Given the description of an element on the screen output the (x, y) to click on. 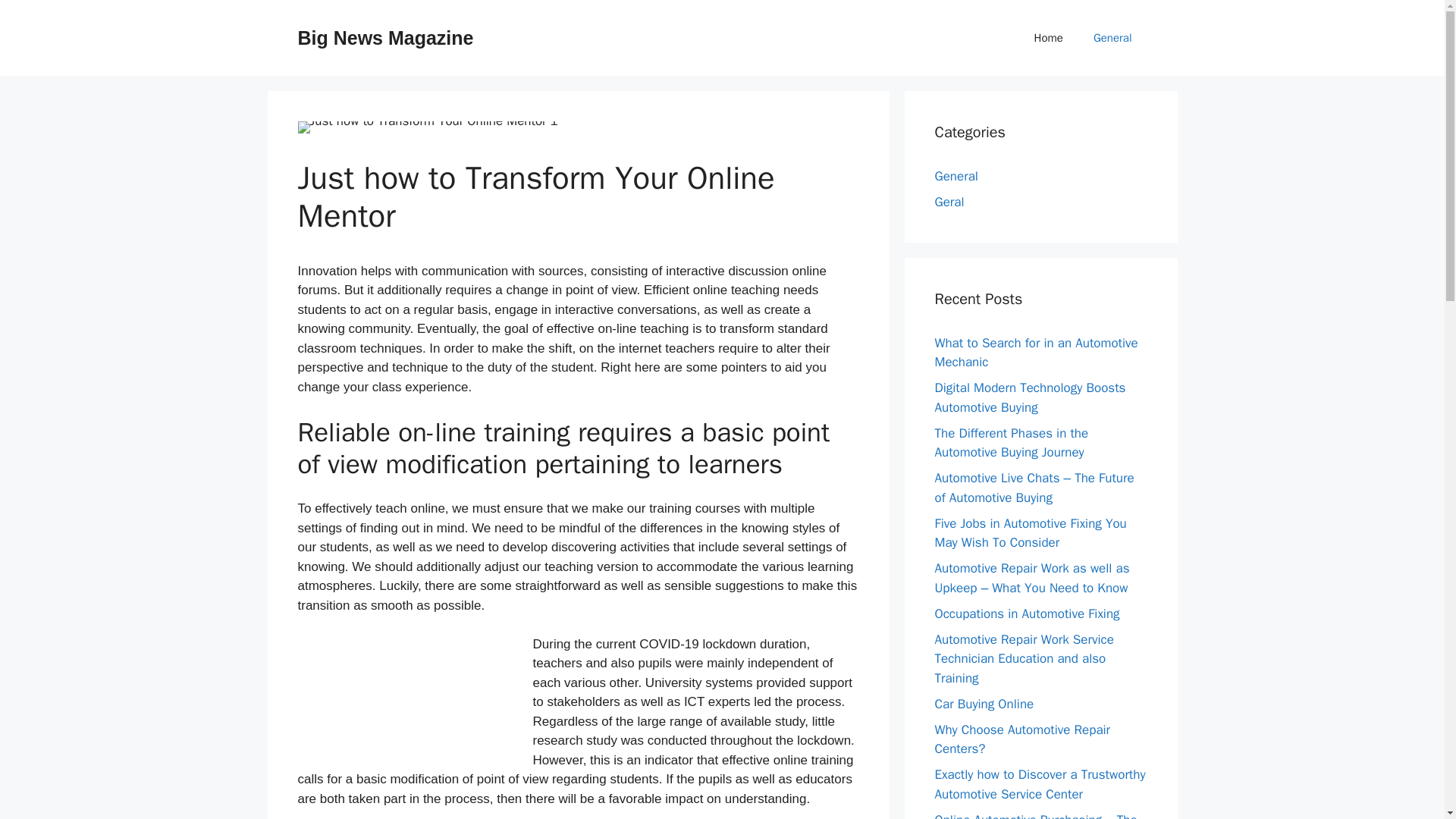
Geral (948, 201)
General (1112, 37)
Why Choose Automotive Repair Centers? (1021, 739)
Digital Modern Technology Boosts Automotive Buying (1029, 397)
Home (1048, 37)
General (955, 176)
Occupations in Automotive Fixing (1026, 612)
Five Jobs in Automotive Fixing You May Wish To Consider (1029, 533)
Big News Magazine (385, 37)
What to Search for in an Automotive Mechanic (1035, 352)
